Given the description of an element on the screen output the (x, y) to click on. 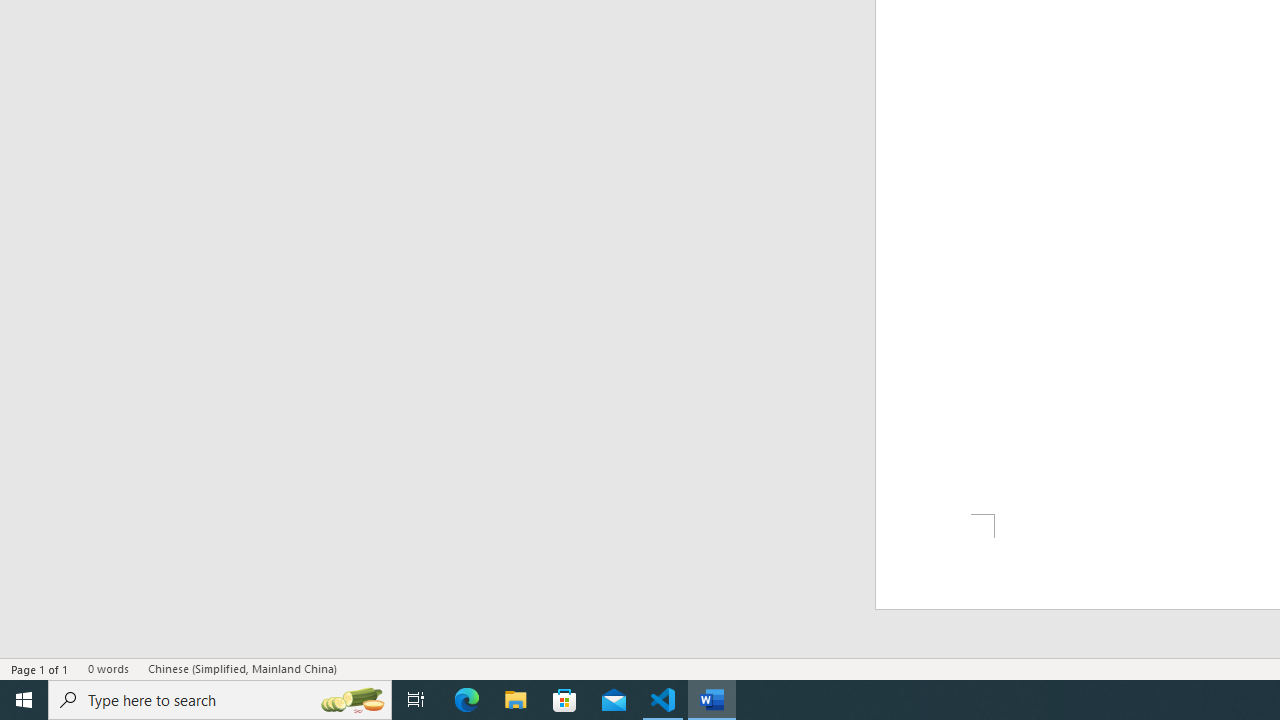
Page Number Page 1 of 1 (39, 668)
